Given the description of an element on the screen output the (x, y) to click on. 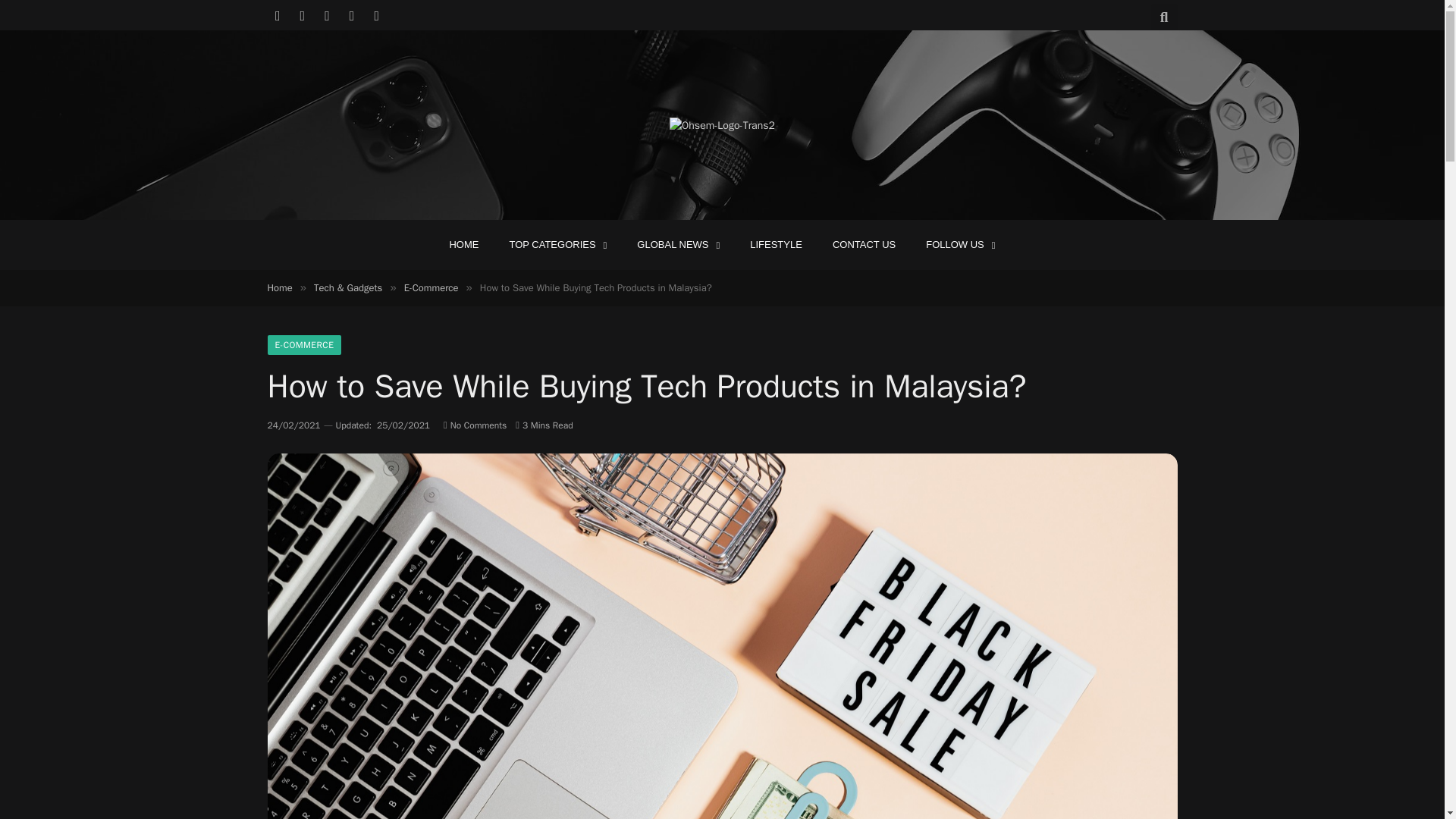
GLOBAL NEWS (678, 244)
LIFESTYLE (775, 244)
Instagram (327, 15)
LinkedIn (351, 15)
CONTACT US (863, 244)
Ohsem-Logo-Trans2 (721, 125)
Facebook (277, 15)
TOP CATEGORIES (557, 244)
TikTok (376, 15)
HOME (463, 244)
FOLLOW US (960, 244)
